Given the description of an element on the screen output the (x, y) to click on. 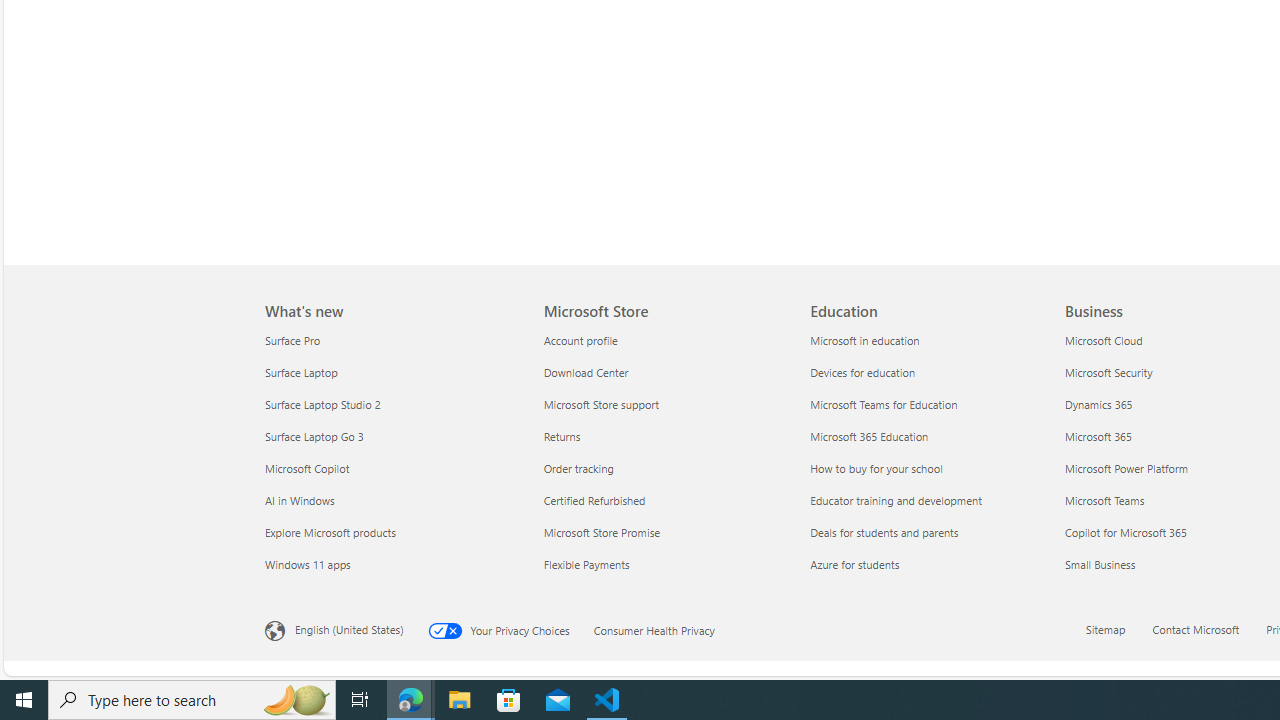
Dynamics 365 Business (1097, 403)
Microsoft in education (931, 340)
Order tracking (664, 468)
Surface Laptop Studio 2 (391, 404)
Surface Laptop (391, 371)
Microsoft 365 Education Education (869, 435)
Copilot for Microsoft 365 Business (1124, 532)
Microsoft Teams Business (1104, 499)
Microsoft Teams for Education Education (883, 403)
Returns (664, 435)
Account profile (664, 340)
Flexible Payments Microsoft Store (585, 563)
Download Center (664, 371)
Flexible Payments (664, 564)
